Given the description of an element on the screen output the (x, y) to click on. 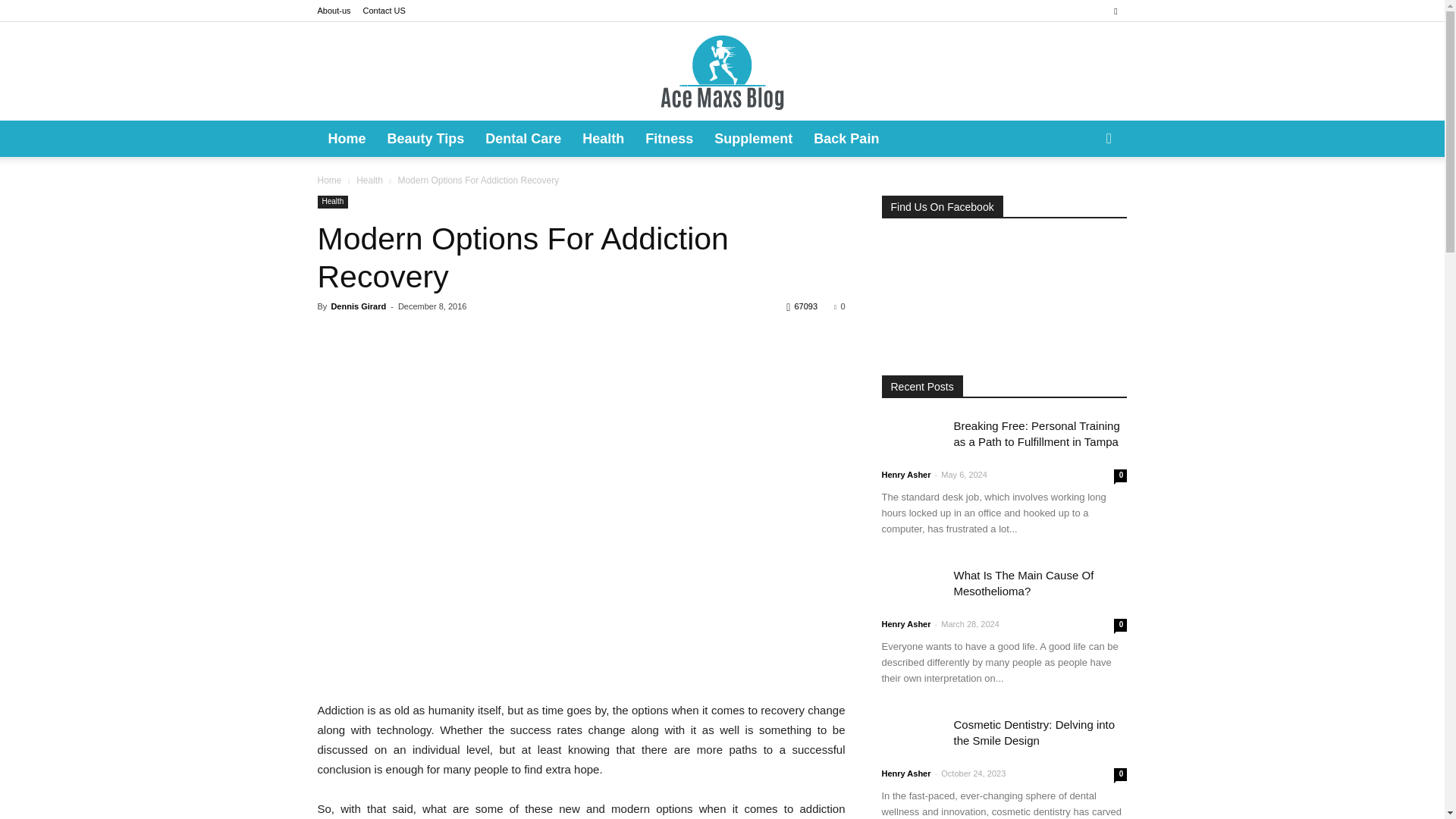
Fitness (668, 138)
About-us (333, 10)
Health (603, 138)
Contact US (384, 10)
Back Pain (846, 138)
Search (1085, 199)
Home (328, 180)
View all posts in Health (369, 180)
Home (346, 138)
Facebook (1114, 10)
